Given the description of an element on the screen output the (x, y) to click on. 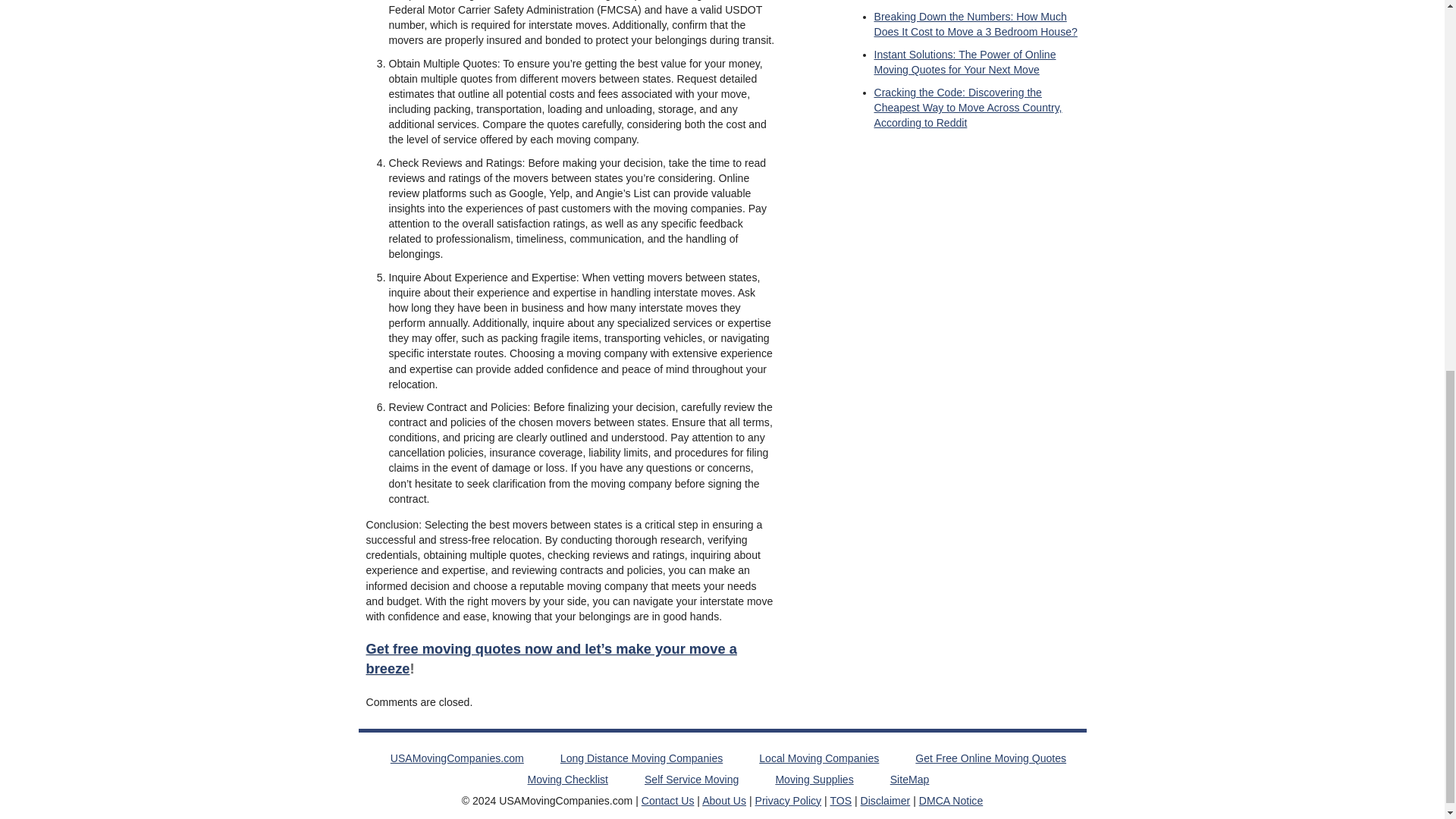
DMCA Notice (951, 800)
contact us (668, 800)
Self Service Moving (691, 779)
Moving Checklist (567, 779)
USAMovingCompanies.com (457, 758)
Privacy Policy (788, 800)
disclaimer (885, 800)
SiteMap (909, 779)
TOS (840, 800)
Disclaimer (885, 800)
dmca (951, 800)
About Us (723, 800)
terms of service (840, 800)
Moving Supplies (813, 779)
